Given the description of an element on the screen output the (x, y) to click on. 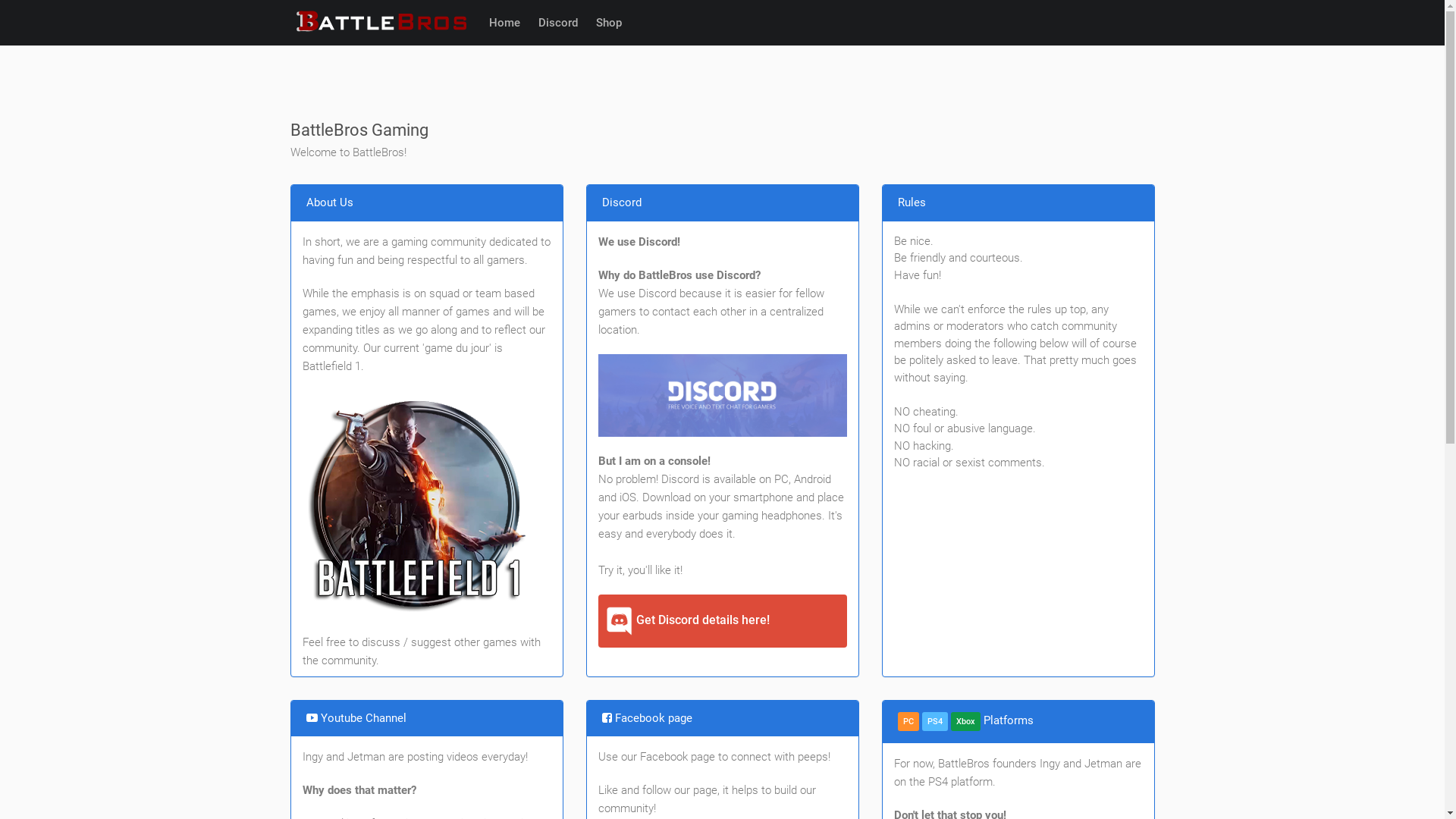
Discord Element type: text (557, 22)
Get Discord details here! Element type: text (721, 620)
Home Element type: text (503, 22)
Shop Element type: text (608, 22)
